Given the description of an element on the screen output the (x, y) to click on. 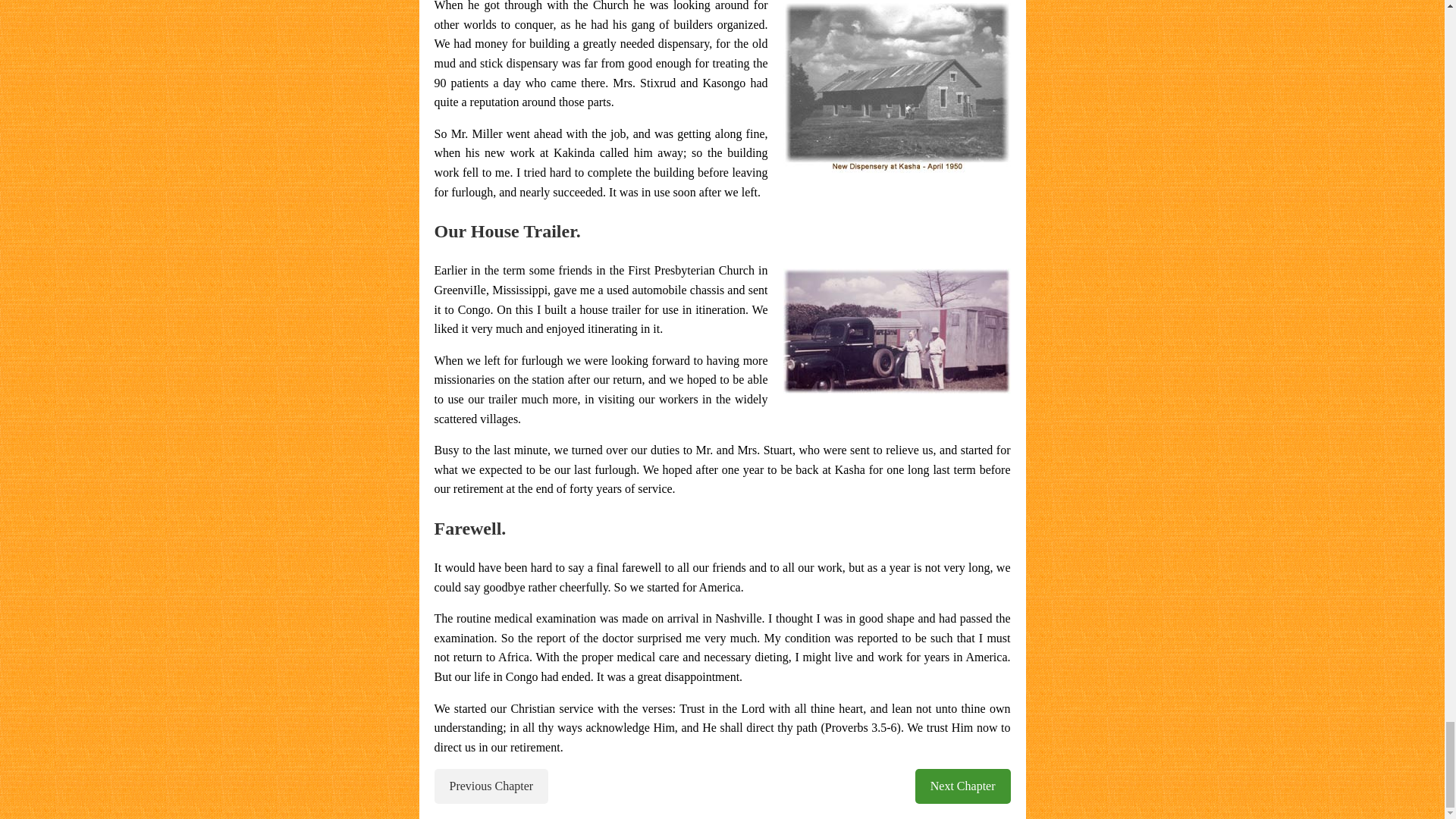
Previous Chapter (490, 786)
